Given the description of an element on the screen output the (x, y) to click on. 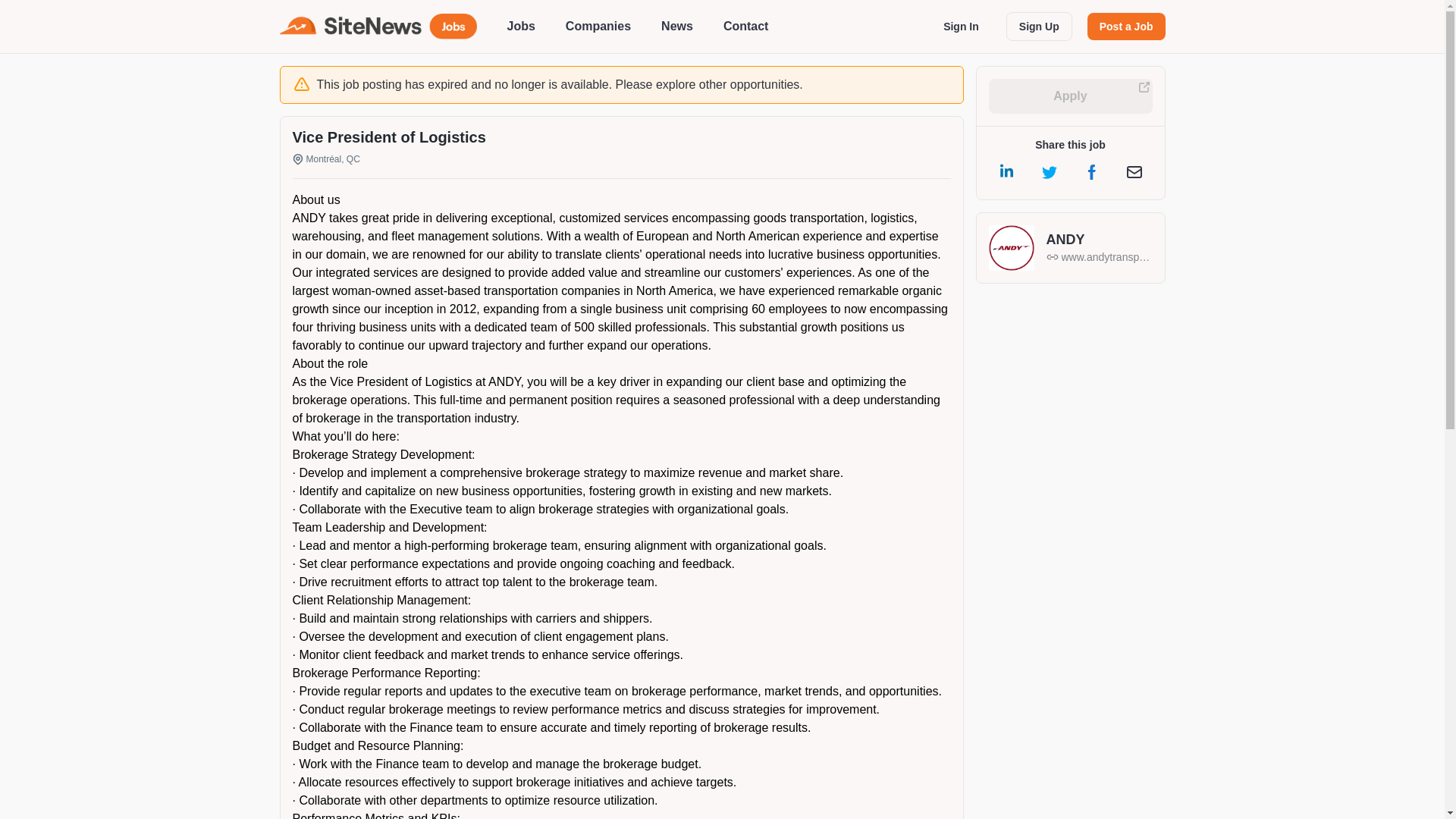
www.andytransport.com (1099, 256)
Post a Job (1126, 26)
Companies (598, 25)
Sign In (961, 26)
Jobs (520, 25)
Contact (745, 25)
Sign Up (1038, 26)
Apply (1070, 95)
ANDY (1099, 239)
News (677, 25)
